Given the description of an element on the screen output the (x, y) to click on. 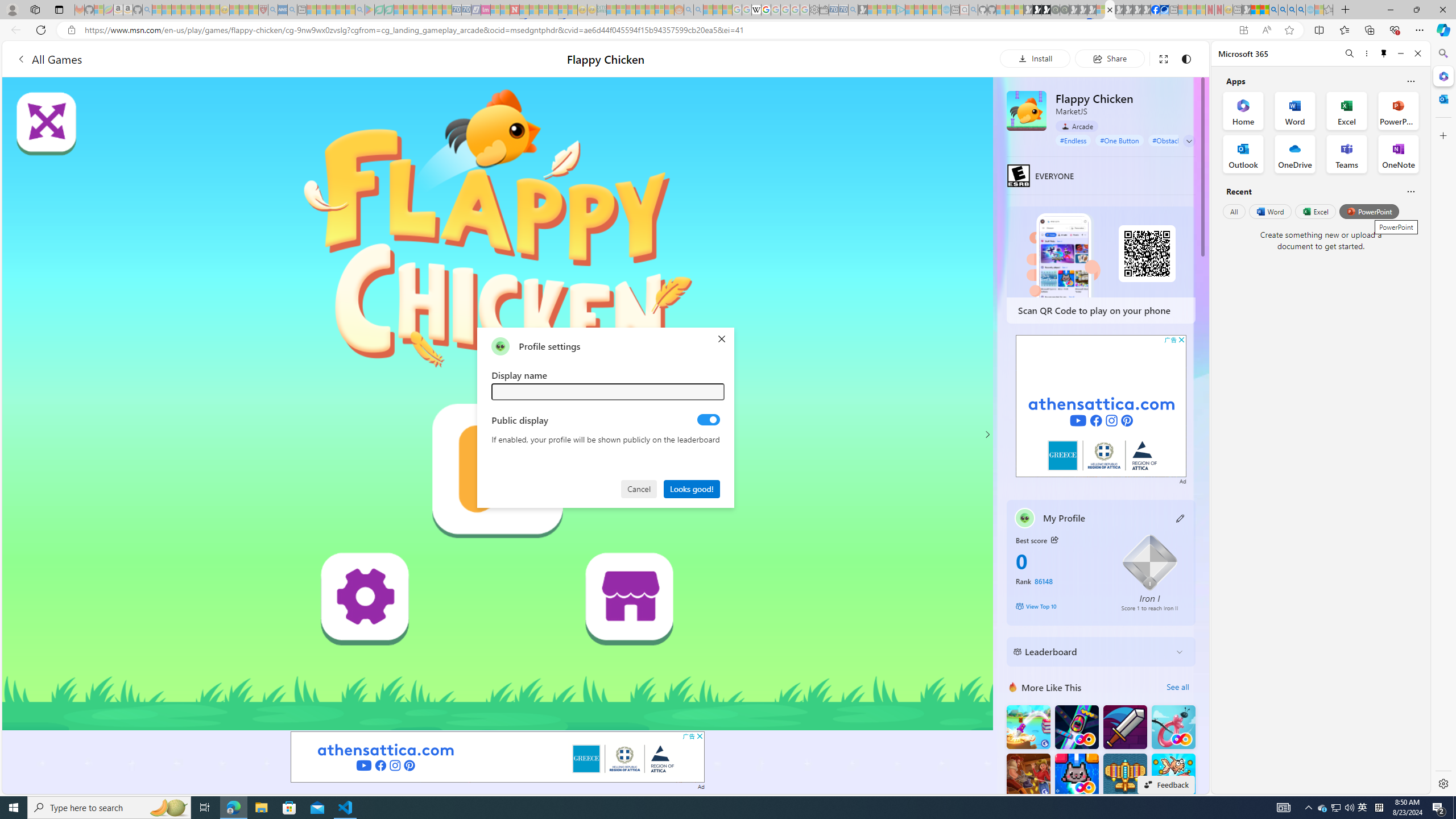
Is this helpful? (1410, 191)
Class: control (1188, 140)
Leaderboard (1091, 651)
Bing AI - Search (1272, 9)
Google Chrome Internet Browser Download - Search Images (1300, 9)
